Given the description of an element on the screen output the (x, y) to click on. 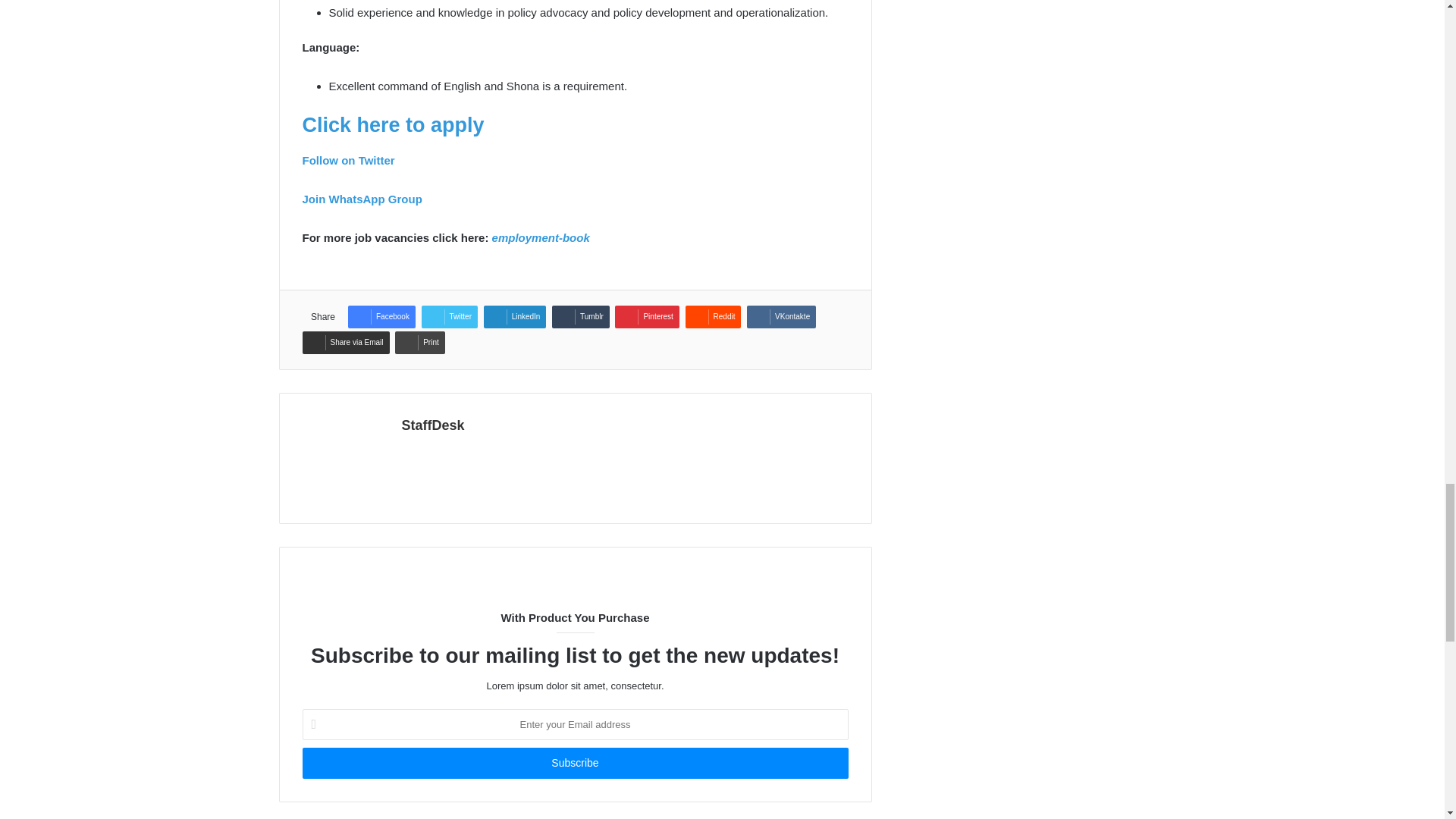
Follow on Twitter (347, 160)
Twitter (449, 316)
Facebook (380, 316)
Join WhatsApp Group (361, 198)
Subscribe (574, 762)
Click here to apply (392, 124)
employment-book (540, 237)
